Given the description of an element on the screen output the (x, y) to click on. 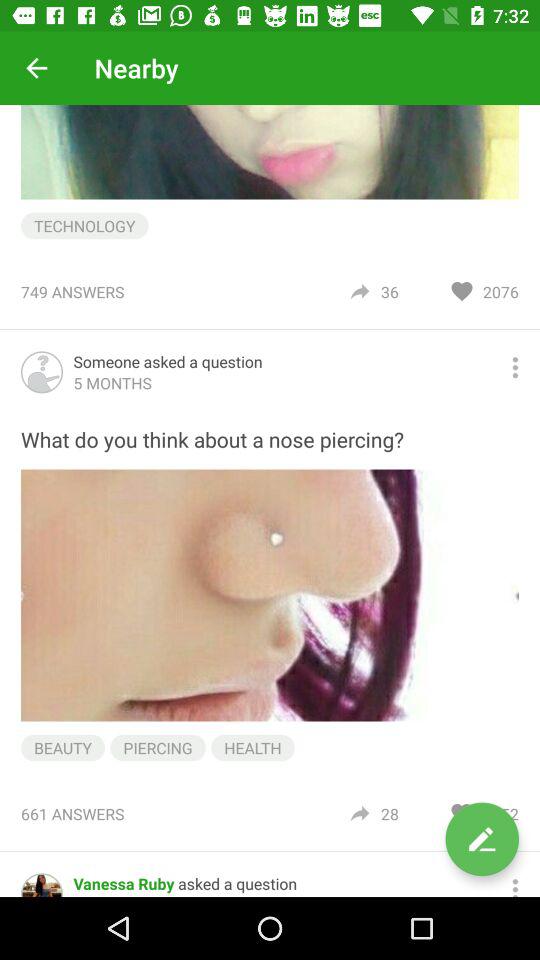
additional menu options (515, 367)
